Given the description of an element on the screen output the (x, y) to click on. 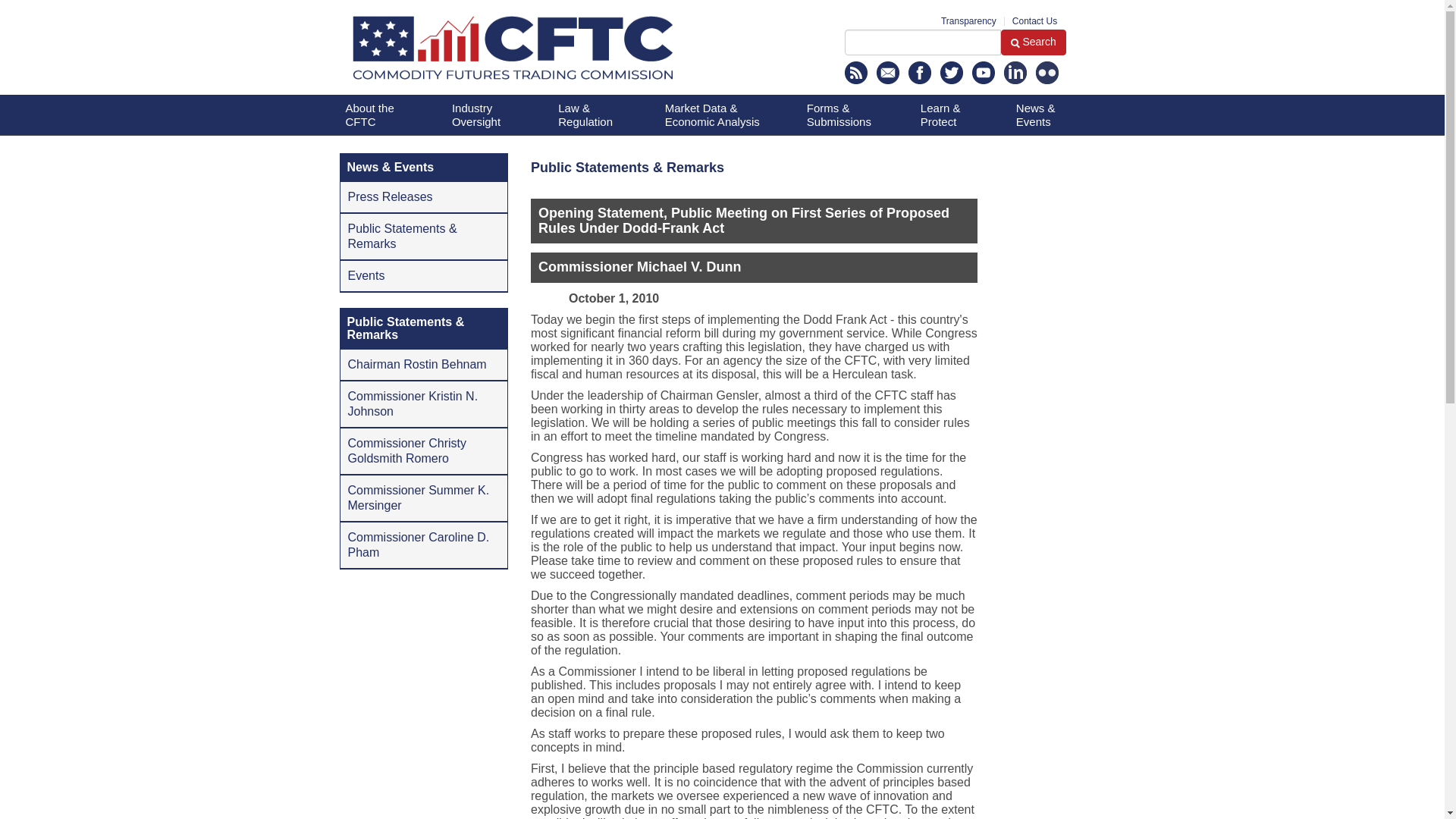
Home (551, 52)
Search (1033, 42)
Contact Us (1034, 20)
Search (922, 42)
Industry Oversight (487, 114)
Transparency (967, 20)
About the CFTC (381, 114)
